Given the description of an element on the screen output the (x, y) to click on. 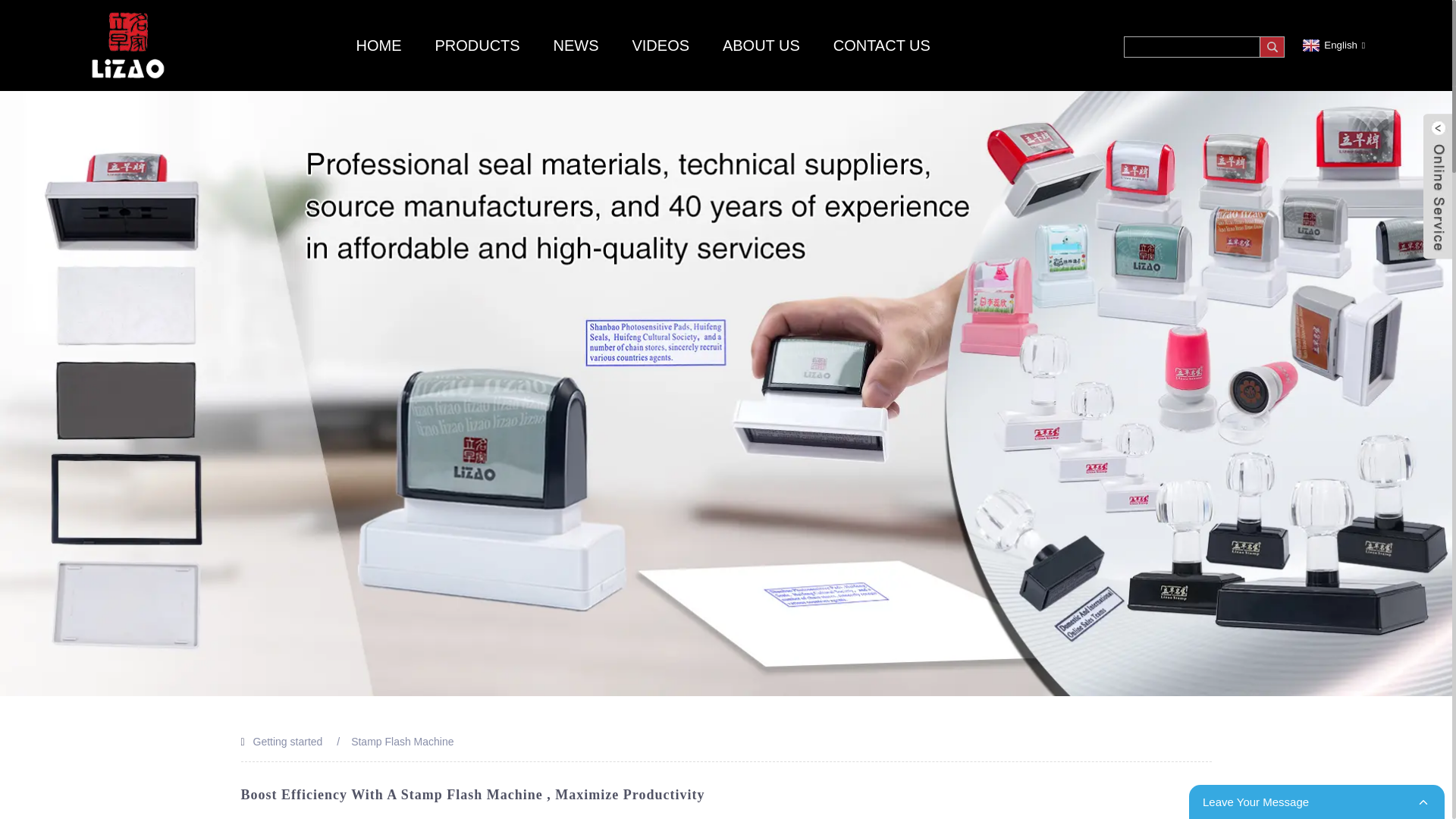
PRODUCTS (476, 45)
Getting started (288, 741)
English (1331, 44)
Stamp Flash Machine (401, 741)
CONTACT US (881, 45)
